Given the description of an element on the screen output the (x, y) to click on. 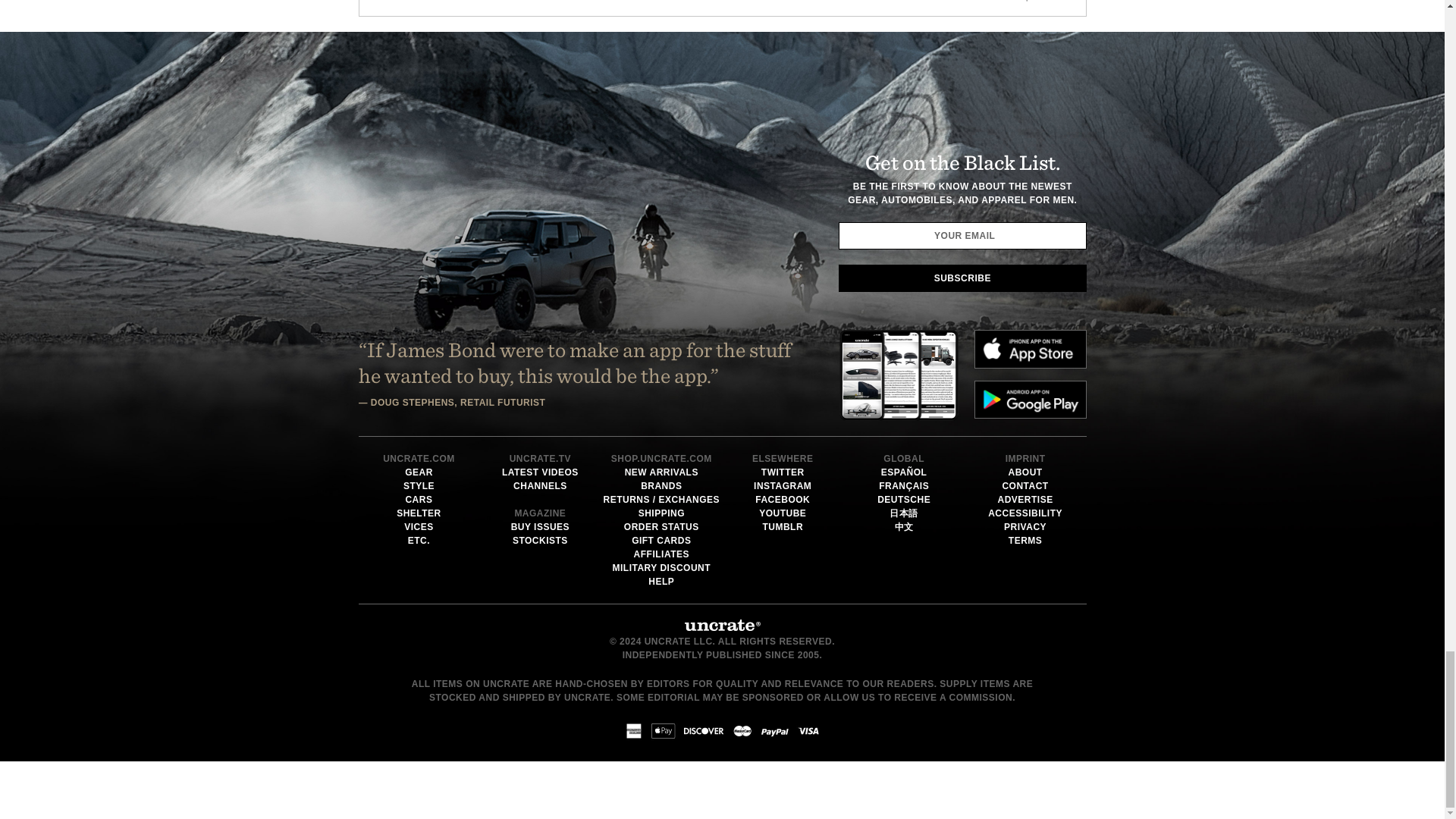
Subscribe (962, 277)
